Given the description of an element on the screen output the (x, y) to click on. 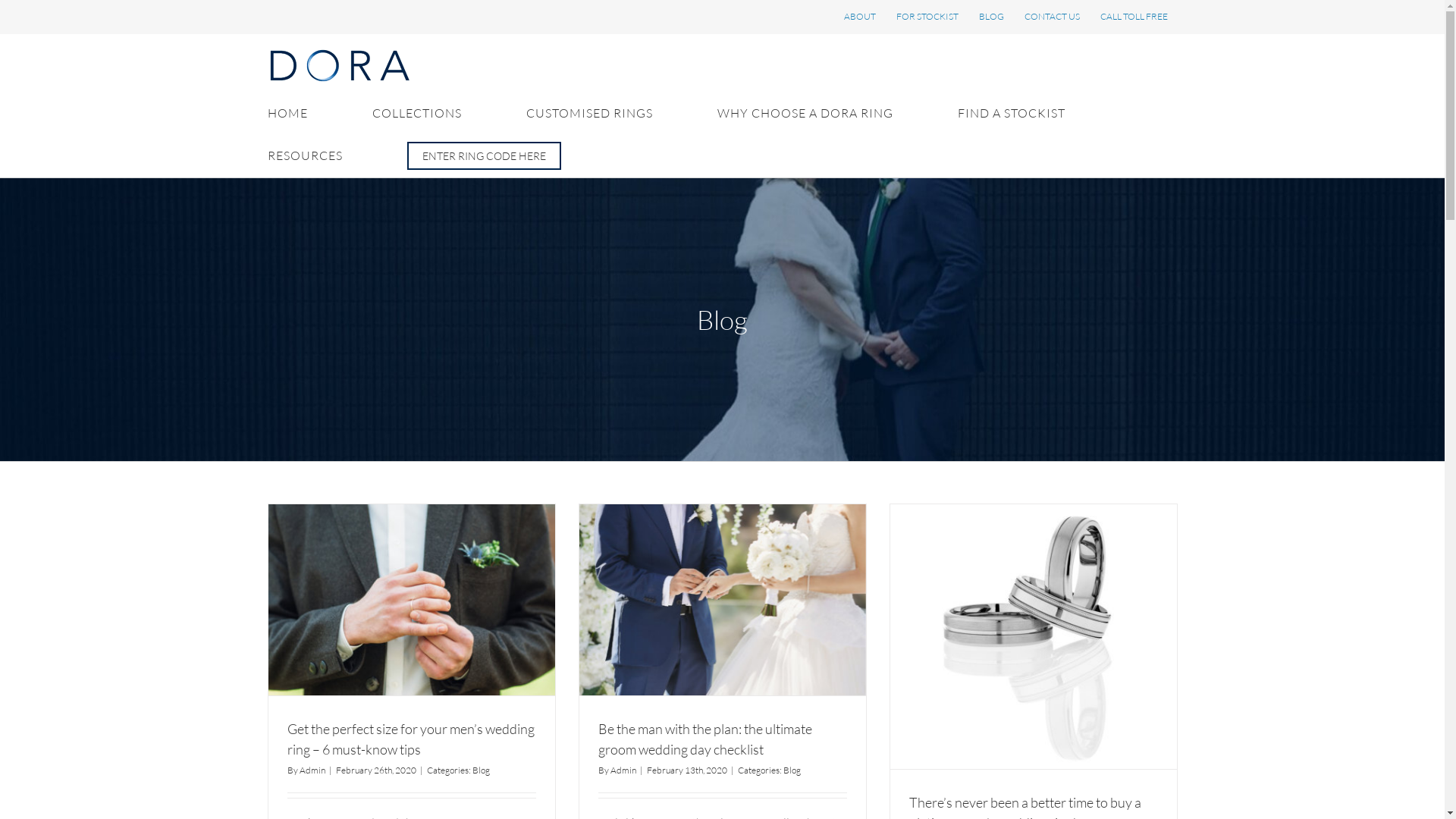
CONTACT US Element type: text (1051, 16)
Blog Element type: text (480, 769)
RESOURCES Element type: text (304, 155)
Blog Element type: text (791, 769)
CALL TOLL FREE Element type: text (1133, 16)
CUSTOMISED RINGS Element type: text (589, 112)
BLOG Element type: text (991, 16)
FOR STOCKIST Element type: text (926, 16)
Admin Element type: text (311, 769)
Search Element type: hover (483, 155)
WHY CHOOSE A DORA RING Element type: text (805, 112)
FIND A STOCKIST Element type: text (1010, 112)
Admin Element type: text (622, 769)
ABOUT Element type: text (859, 16)
COLLECTIONS Element type: text (416, 112)
HOME Element type: text (286, 112)
